Given the description of an element on the screen output the (x, y) to click on. 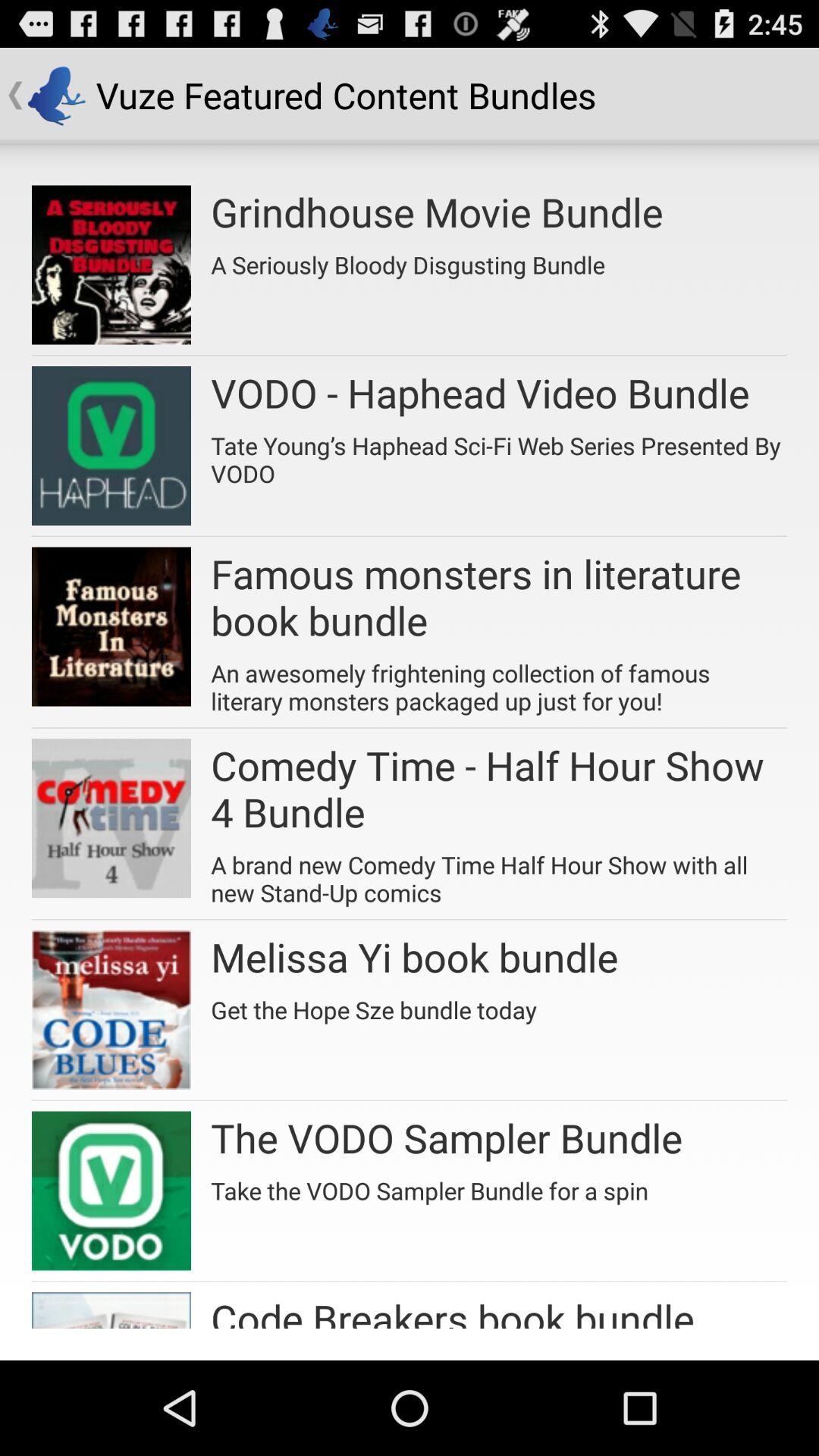
select the app below the grindhouse movie bundle app (408, 259)
